Given the description of an element on the screen output the (x, y) to click on. 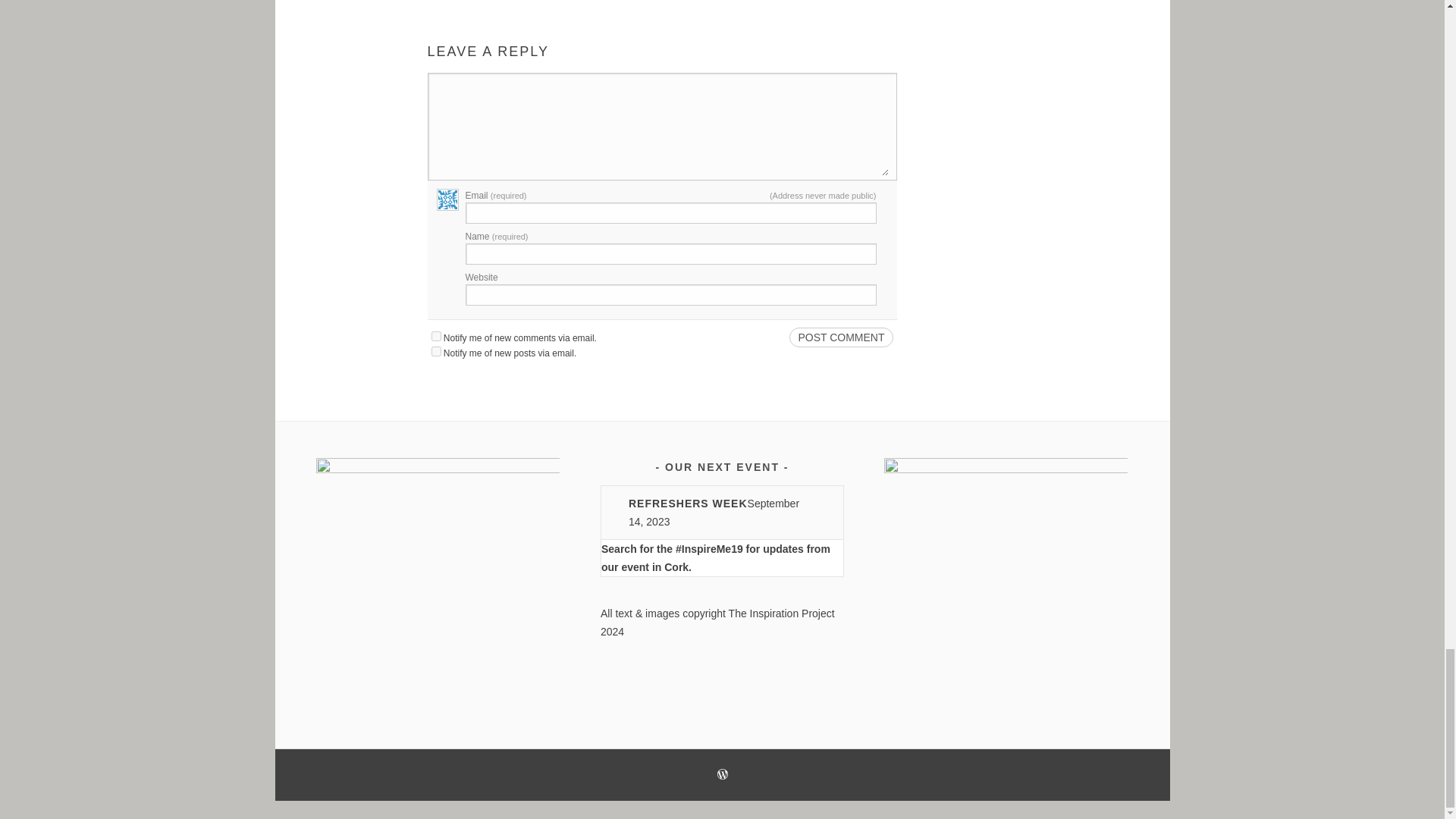
CREATE A WEBSITE OR BLOG AT WORDPRESS.COM (722, 775)
Post Comment (840, 337)
subscribe (435, 351)
subscribe (435, 336)
Enter your comment here... (661, 128)
Create a website or blog at WordPress.com (722, 775)
CREATE A WEBSITE OR BLOG AT WORDPRESS.COM (722, 773)
Post Comment (840, 337)
